Given the description of an element on the screen output the (x, y) to click on. 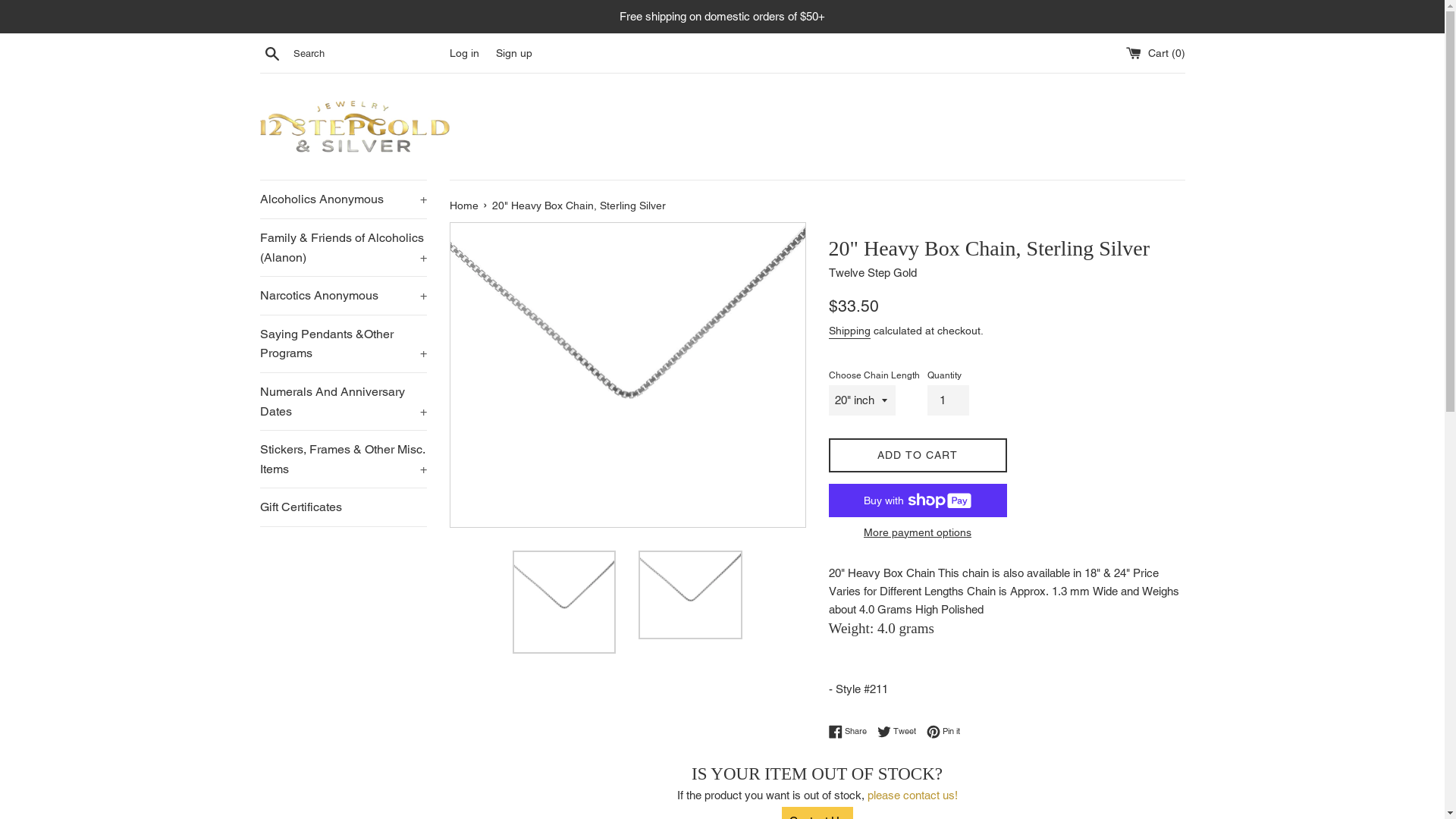
Shipping Element type: text (848, 331)
Home Element type: text (464, 205)
Saying Pendants &Other Programs
+ Element type: text (342, 343)
Pin it
Pin on Pinterest Element type: text (943, 731)
Log in Element type: text (463, 53)
please contact us! Element type: text (912, 794)
Cart (0) Element type: text (1154, 53)
Share
Share on Facebook Element type: text (850, 731)
ADD TO CART Element type: text (917, 455)
Narcotics Anonymous
+ Element type: text (342, 295)
Family & Friends of Alcoholics (Alanon)
+ Element type: text (342, 247)
Alcoholics Anonymous
+ Element type: text (342, 199)
Sign up Element type: text (513, 53)
Search Element type: text (271, 52)
Gift Certificates Element type: text (342, 507)
Tweet
Tweet on Twitter Element type: text (899, 731)
More payment options Element type: text (917, 532)
Stickers, Frames & Other Misc. Items
+ Element type: text (342, 458)
Numerals And Anniversary Dates
+ Element type: text (342, 401)
